Given the description of an element on the screen output the (x, y) to click on. 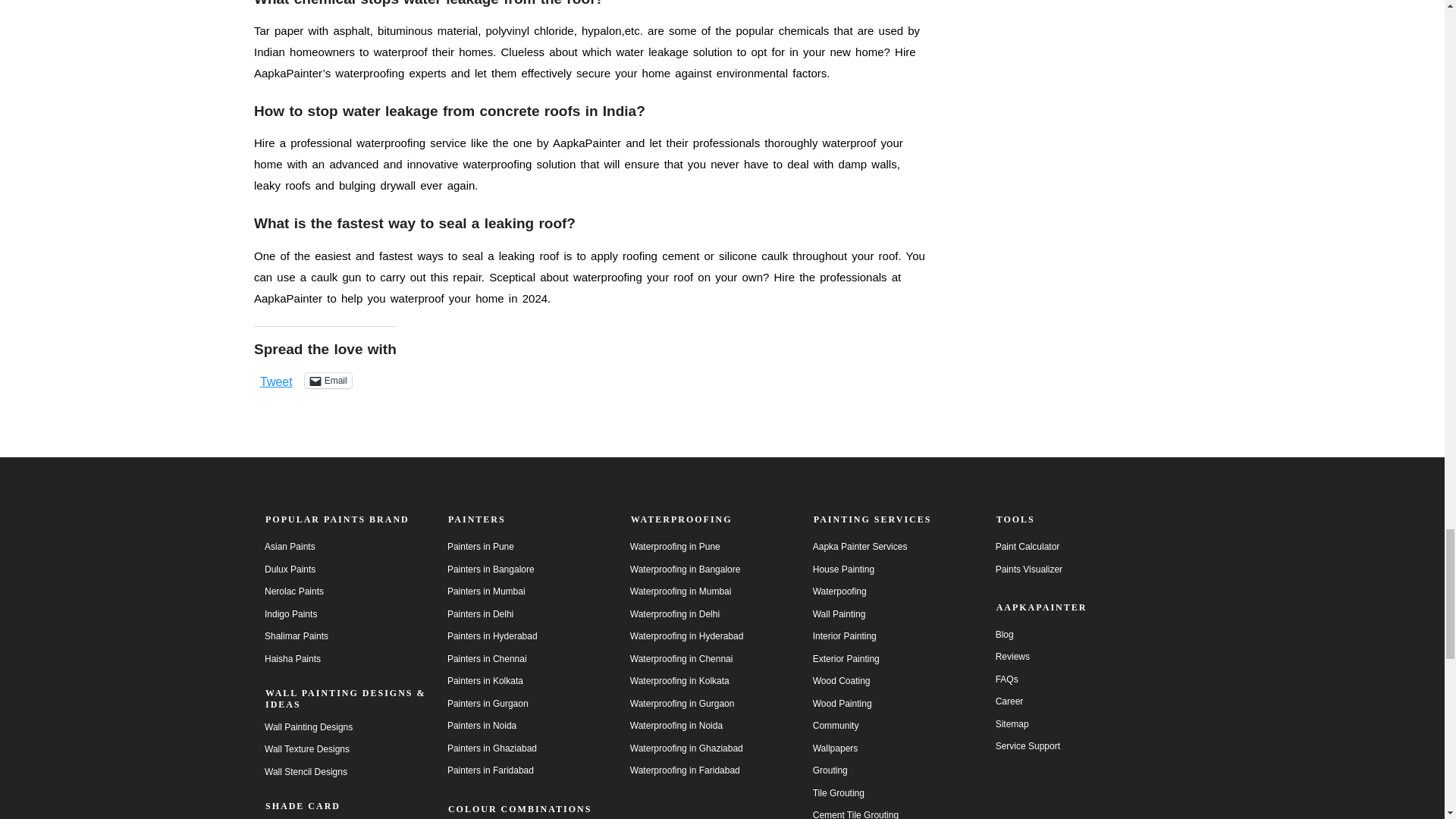
Tweet (276, 379)
Click to email a link to a friend (328, 380)
Email (328, 380)
